Given the description of an element on the screen output the (x, y) to click on. 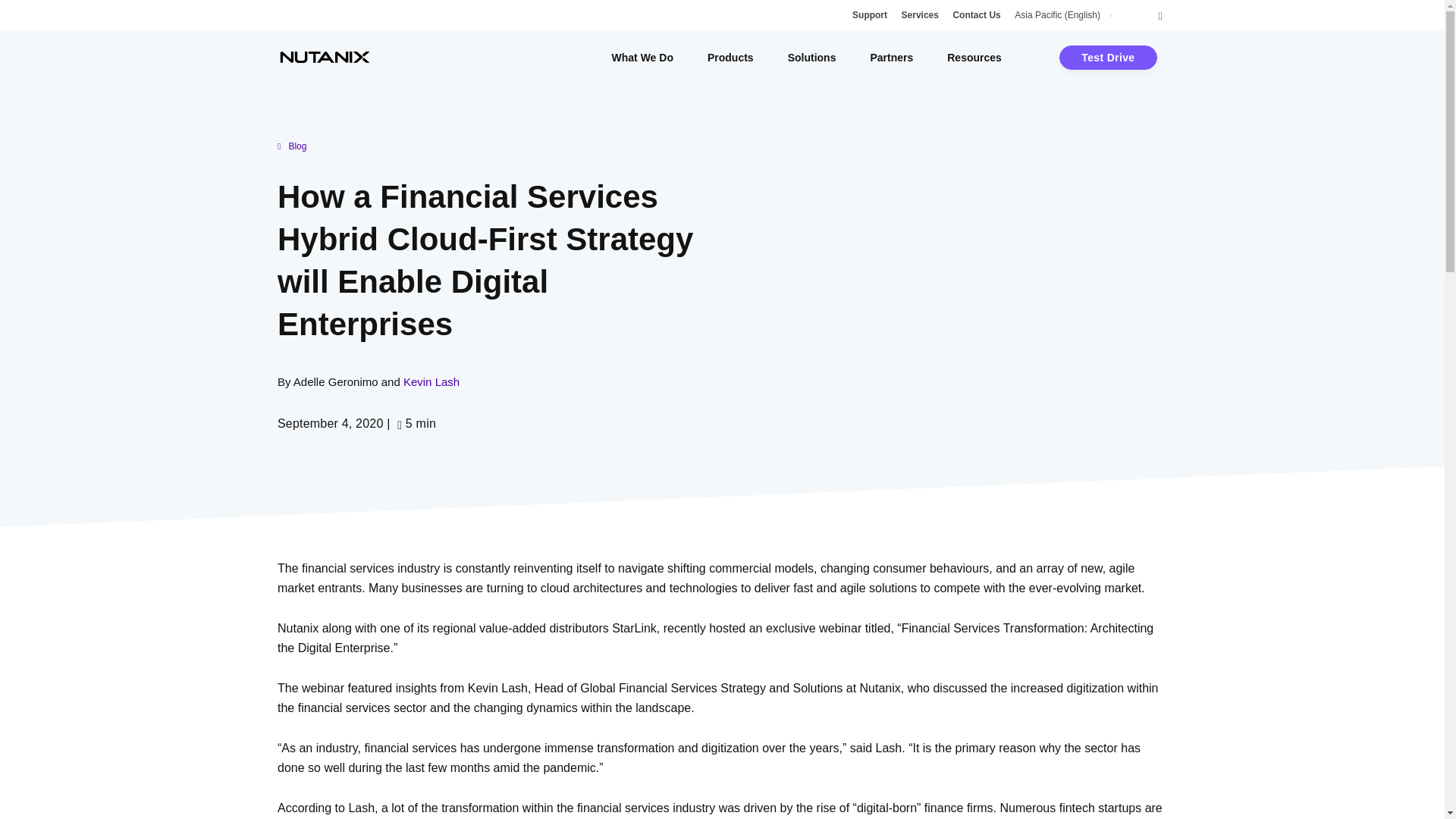
Services (920, 15)
Products (730, 57)
What We Do (641, 57)
Contact Us (976, 15)
Support (868, 15)
